Given the description of an element on the screen output the (x, y) to click on. 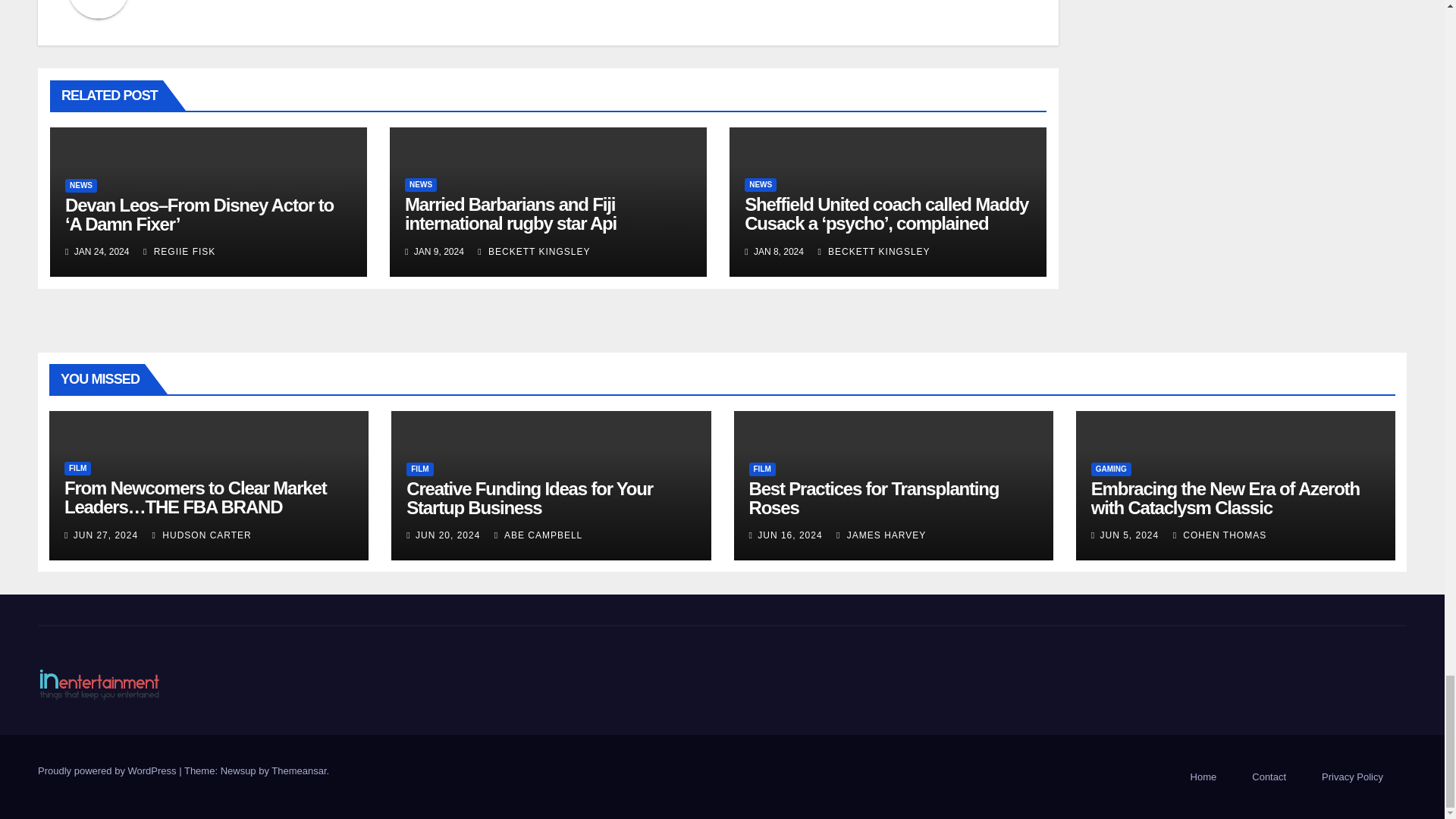
Home (1202, 776)
REGIIE FISK (178, 251)
Permalink to: Best Practices for Transplanting Roses (873, 497)
BECKETT KINGSLEY (873, 251)
NEWS (81, 185)
NEWS (760, 184)
NEWS (420, 184)
BECKETT KINGSLEY (533, 251)
